Given the description of an element on the screen output the (x, y) to click on. 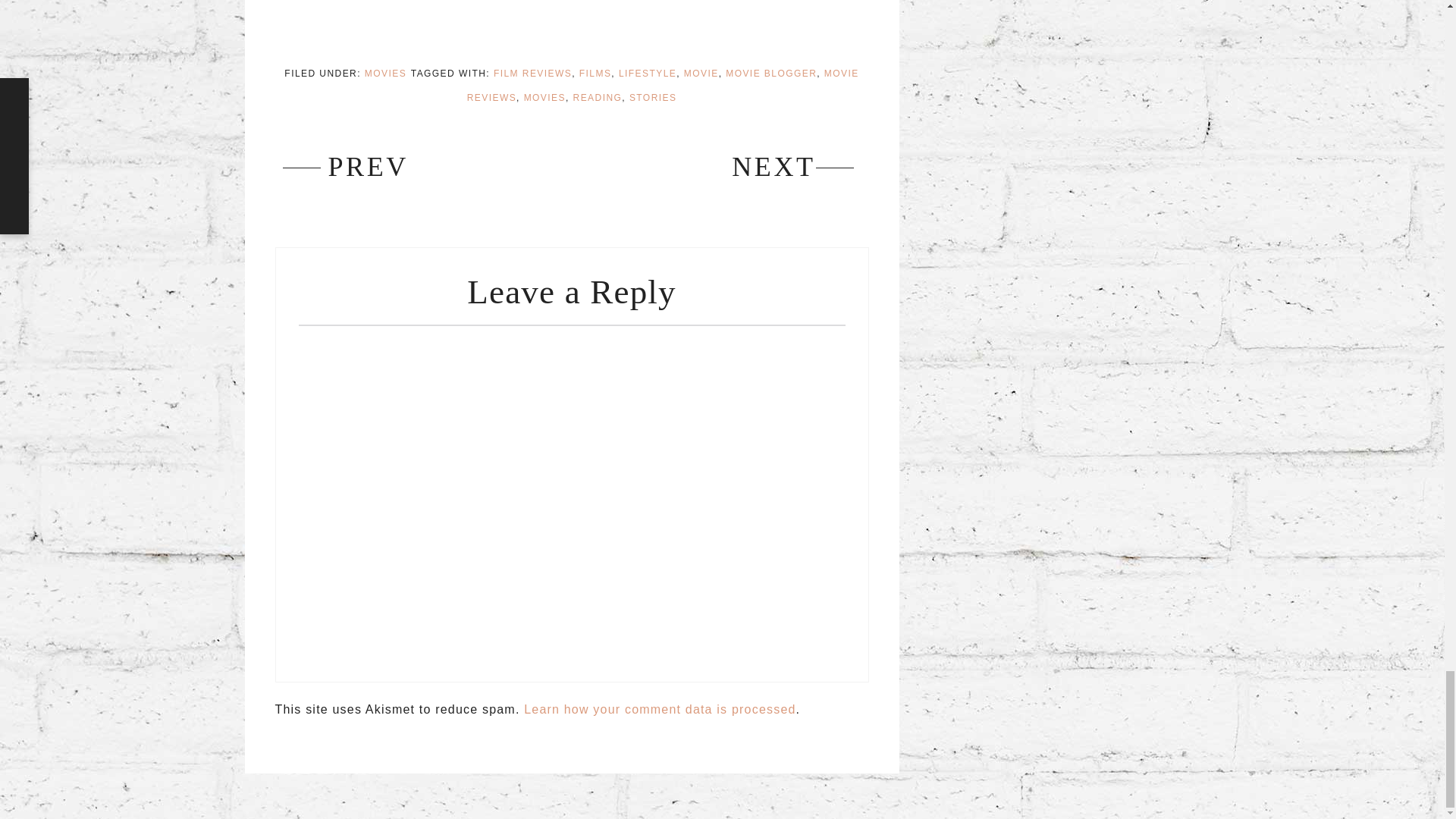
FILM REVIEWS (532, 72)
FILMS (595, 72)
MOVIES (385, 72)
